Given the description of an element on the screen output the (x, y) to click on. 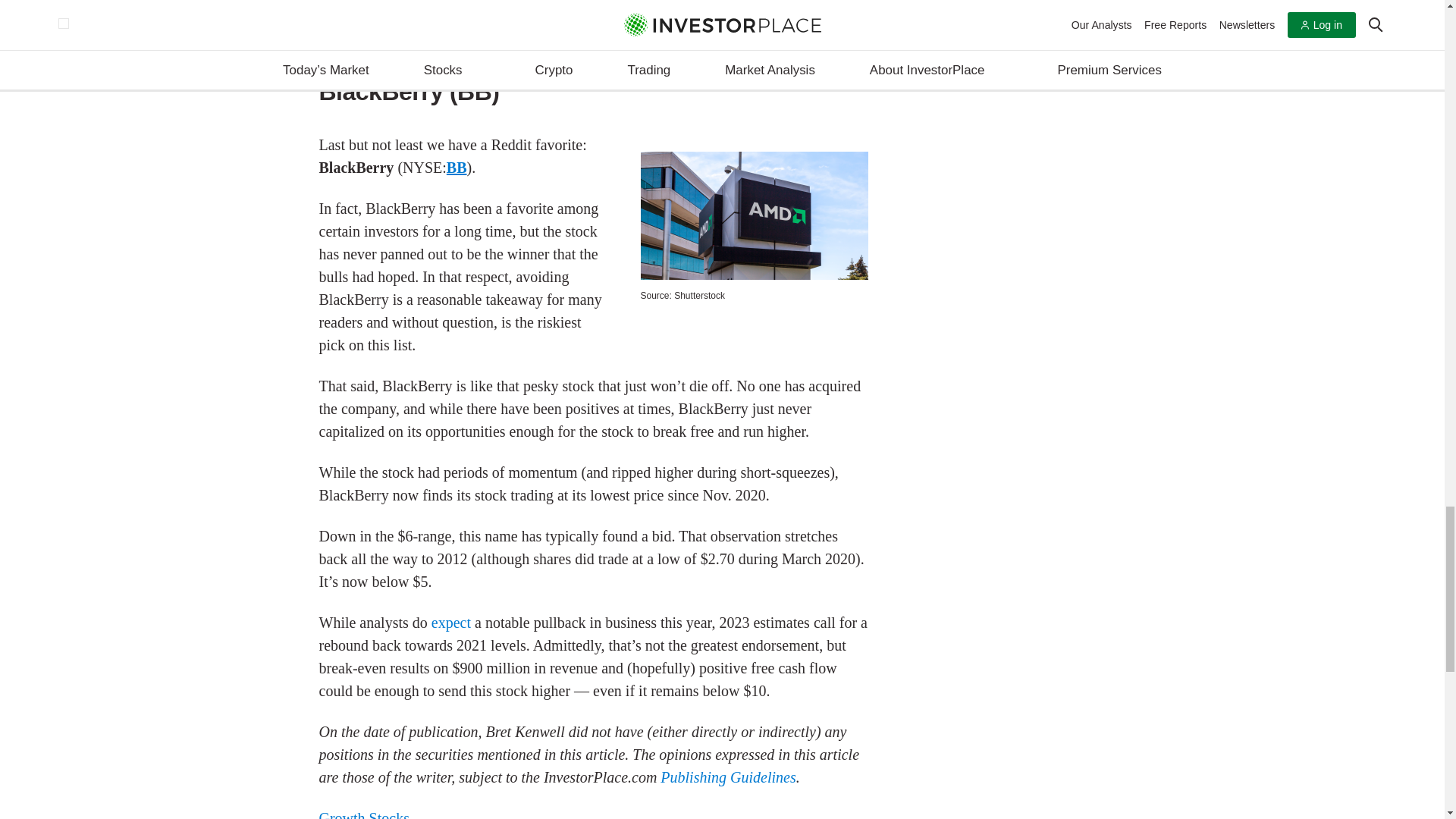
Articles from Growth Stocks stock type (363, 814)
